Given the description of an element on the screen output the (x, y) to click on. 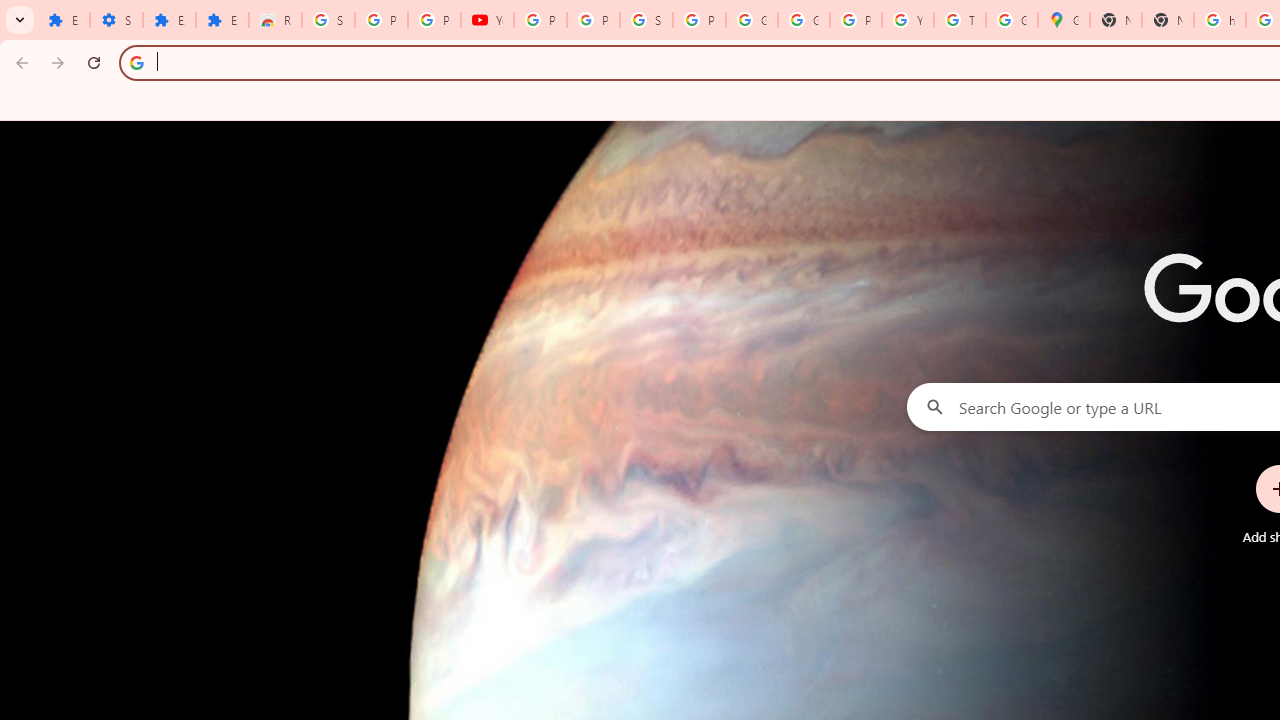
Google Account (751, 20)
New Tab (1167, 20)
https://scholar.google.com/ (1219, 20)
Extensions (169, 20)
Extensions (222, 20)
YouTube (907, 20)
